Given the description of an element on the screen output the (x, y) to click on. 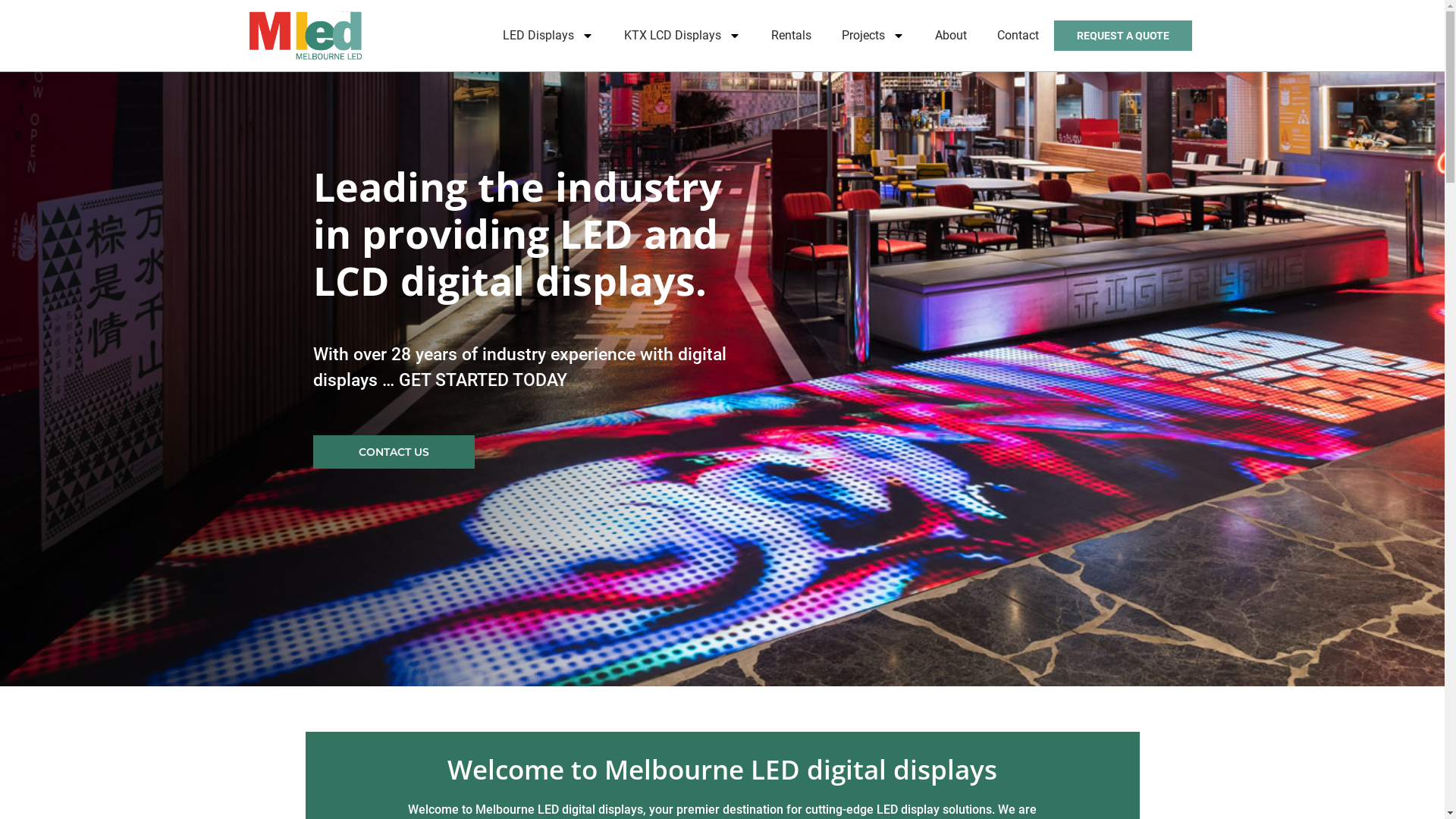
CONTACT US Element type: text (392, 451)
REQUEST A QUOTE Element type: text (1123, 35)
KTX LCD Displays Element type: text (682, 35)
Rentals Element type: text (791, 35)
About Element type: text (950, 35)
Contact Element type: text (1018, 35)
LED Displays Element type: text (547, 35)
Projects Element type: text (872, 35)
